Given the description of an element on the screen output the (x, y) to click on. 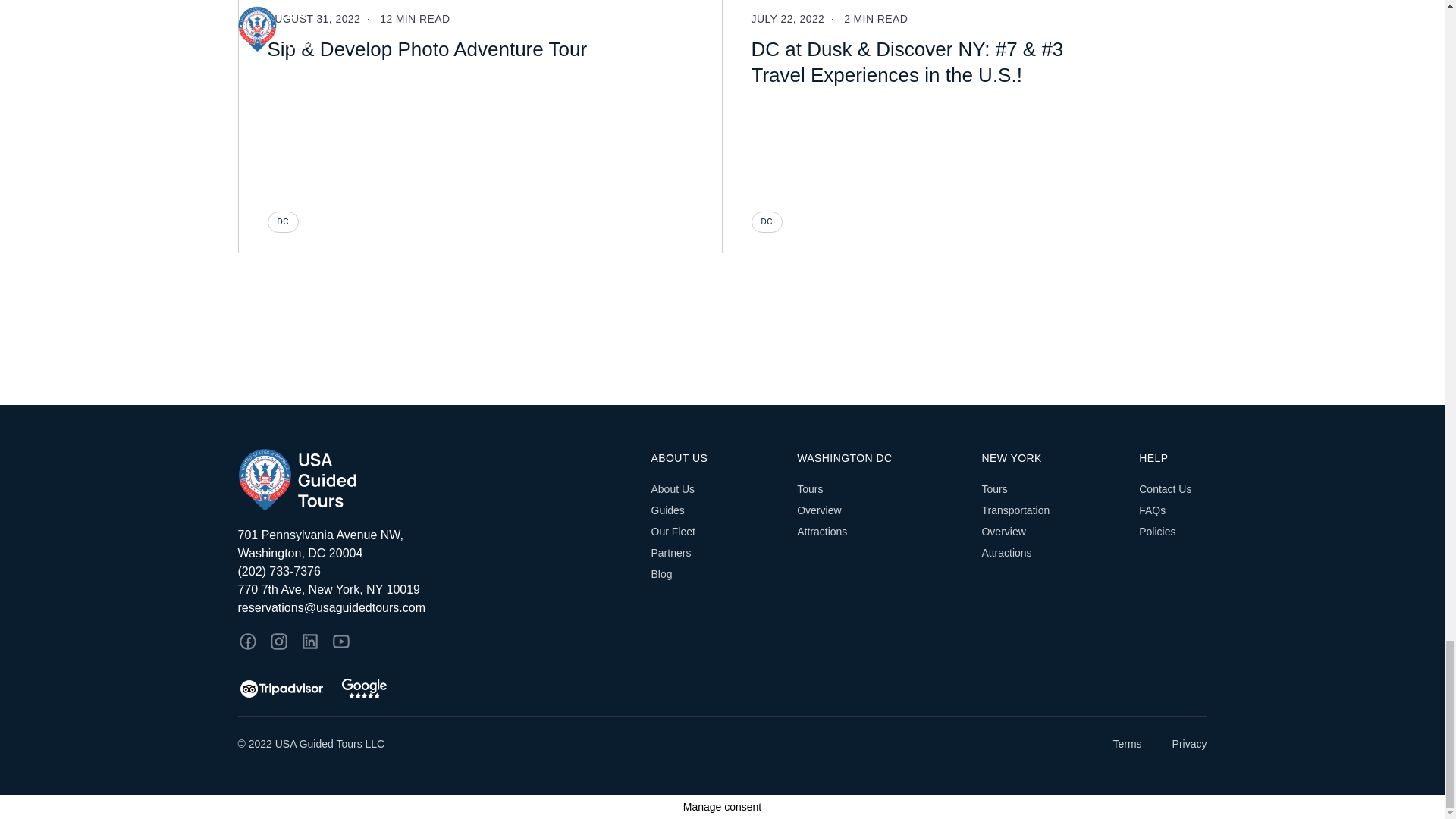
770 7th Ave, New York, NY 10019 (350, 589)
701 Pennsylvania Avenue NW, Washington, DC 20004 (350, 544)
About Us (672, 489)
